Given the description of an element on the screen output the (x, y) to click on. 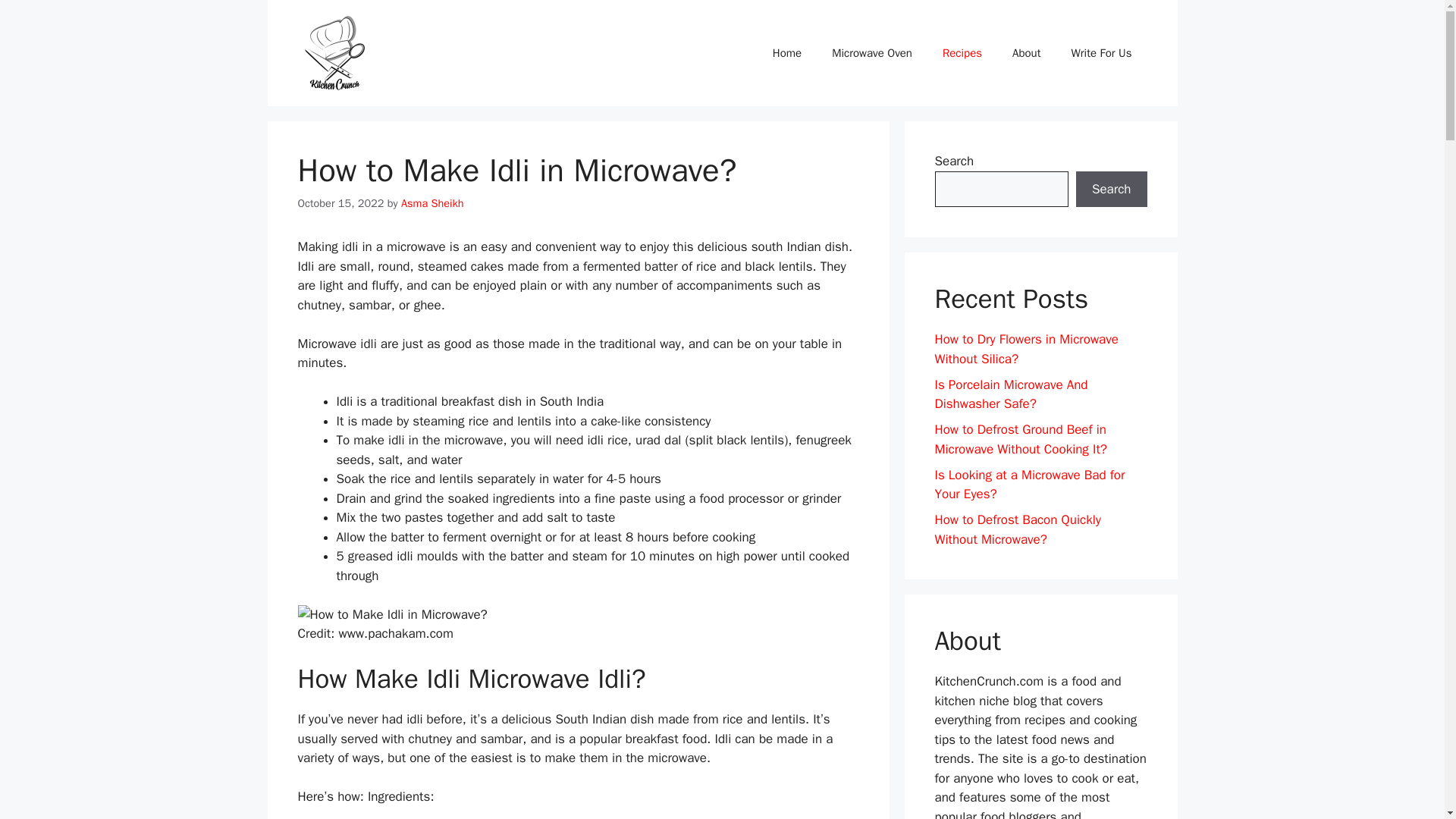
Write For Us (1101, 53)
Microwave Oven (871, 53)
Is Looking at a Microwave Bad for Your Eyes? (1029, 484)
Home (786, 53)
Is Porcelain Microwave And Dishwasher Safe? (1010, 393)
Asma Sheikh (432, 202)
Recipes (962, 53)
How to Dry Flowers in Microwave Without Silica? (1026, 348)
How to Defrost Ground Beef in Microwave Without Cooking It? (1020, 439)
Search (1111, 189)
